Given the description of an element on the screen output the (x, y) to click on. 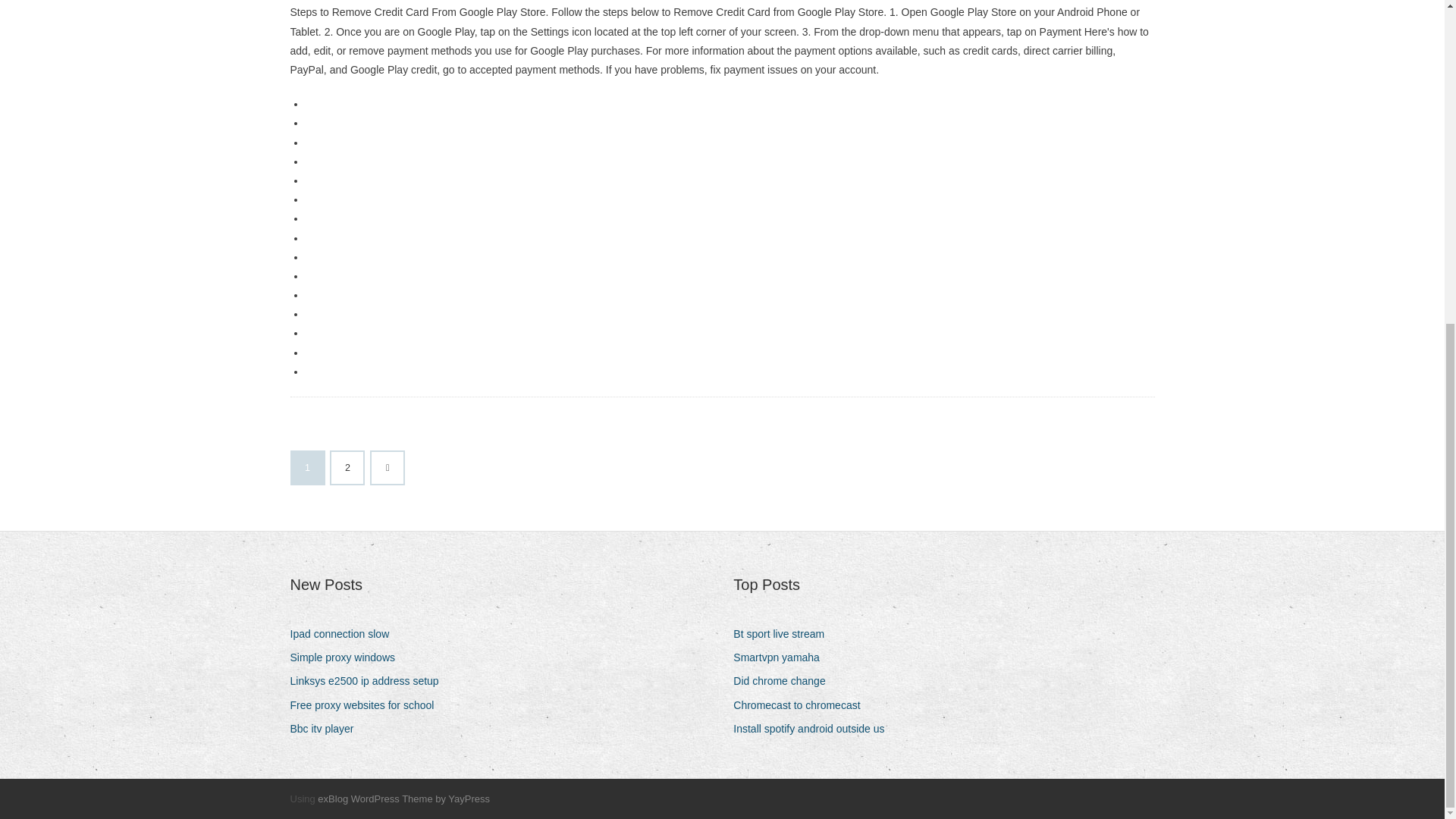
Free proxy websites for school (367, 705)
Bbc itv player (327, 729)
Install spotify android outside us (814, 729)
Bt sport live stream (784, 634)
Linksys e2500 ip address setup (369, 680)
2 (346, 468)
Ipad connection slow (344, 634)
Smartvpn yamaha (782, 657)
exBlog WordPress Theme by YayPress (403, 798)
Chromecast to chromecast (801, 705)
